Given the description of an element on the screen output the (x, y) to click on. 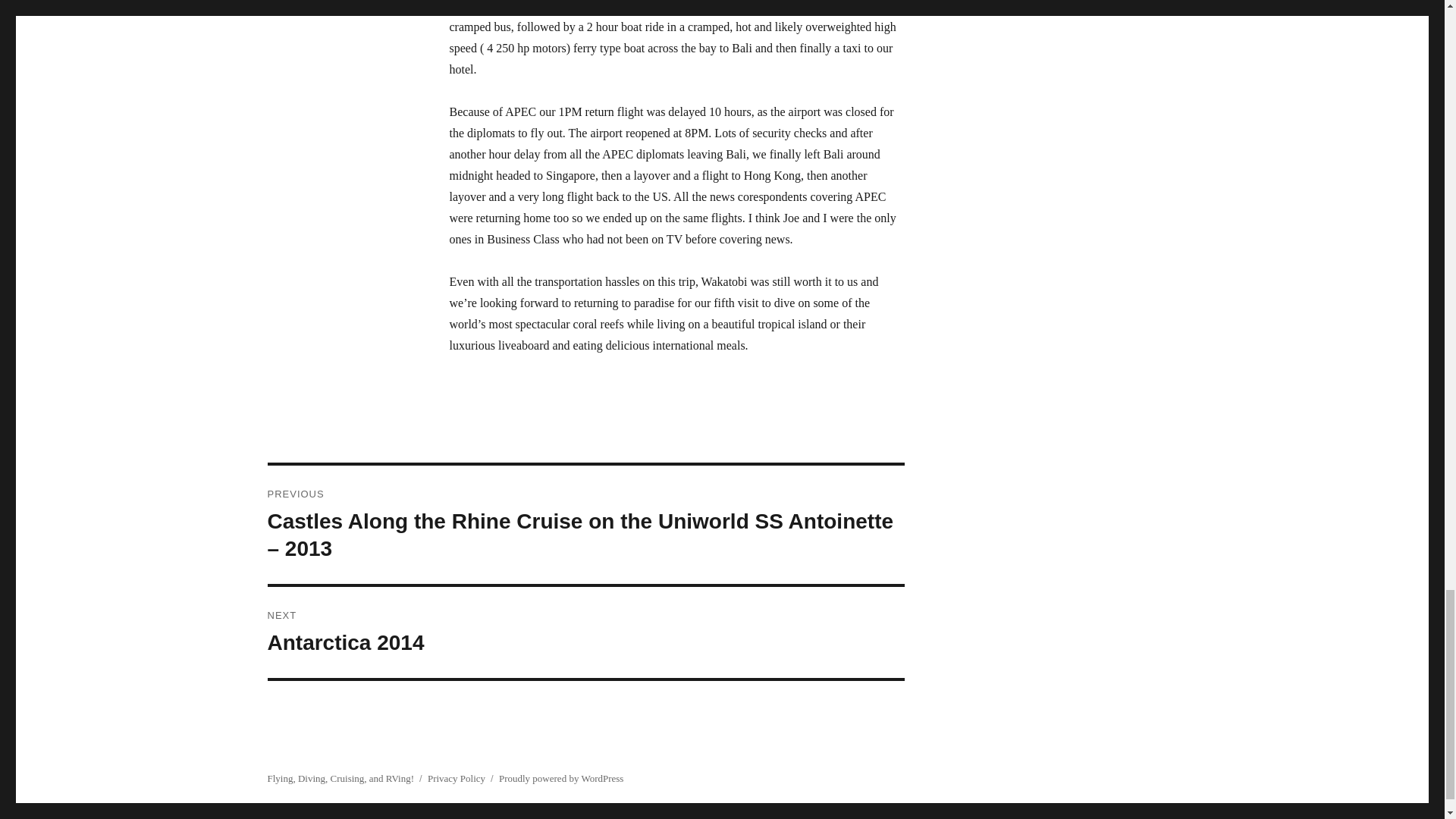
Privacy Policy (585, 632)
Flying, Diving, Cruising, and RVing! (456, 778)
Proudly powered by WordPress (339, 778)
